Given the description of an element on the screen output the (x, y) to click on. 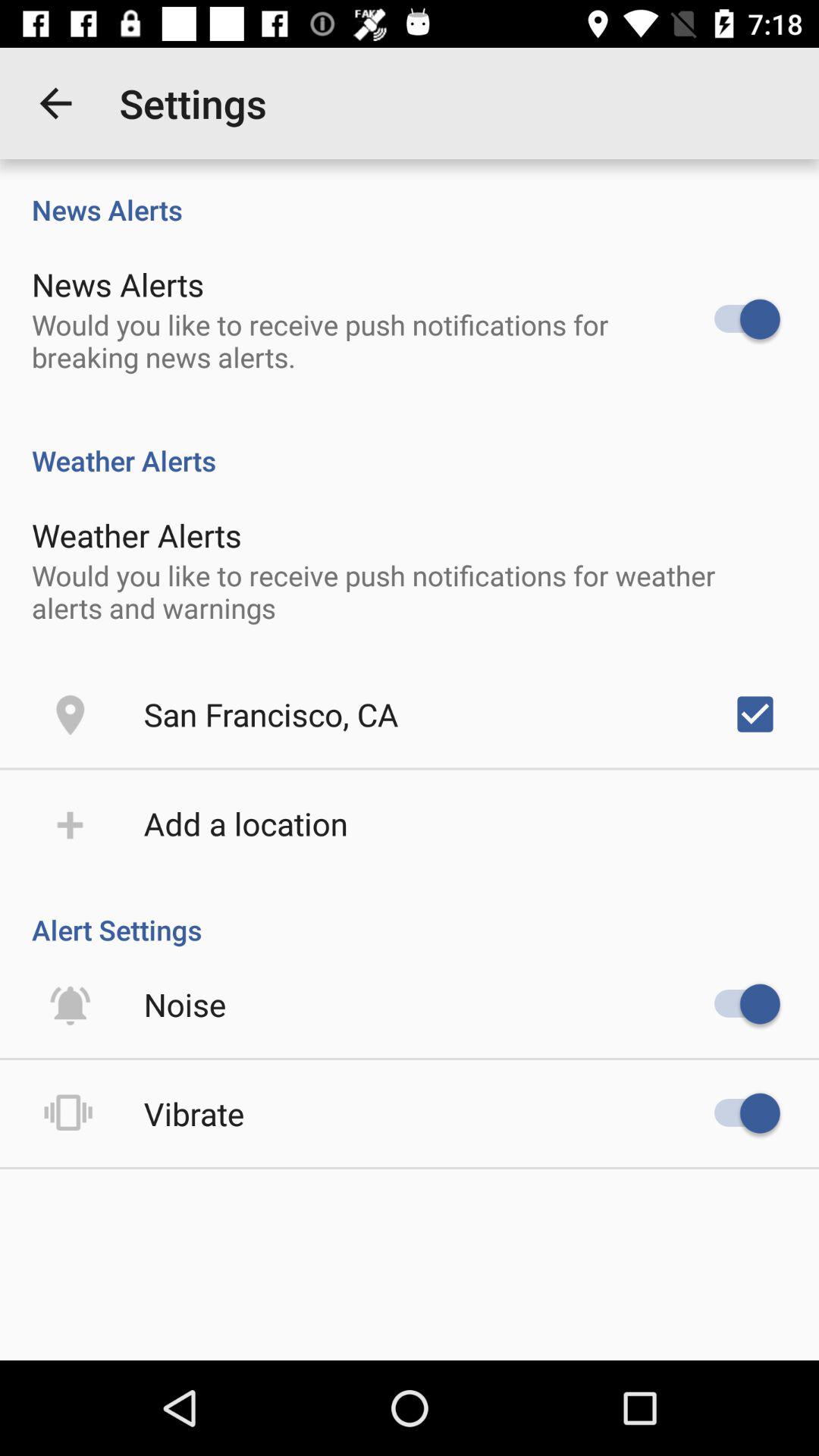
launch item next to the san francisco, ca (755, 714)
